Given the description of an element on the screen output the (x, y) to click on. 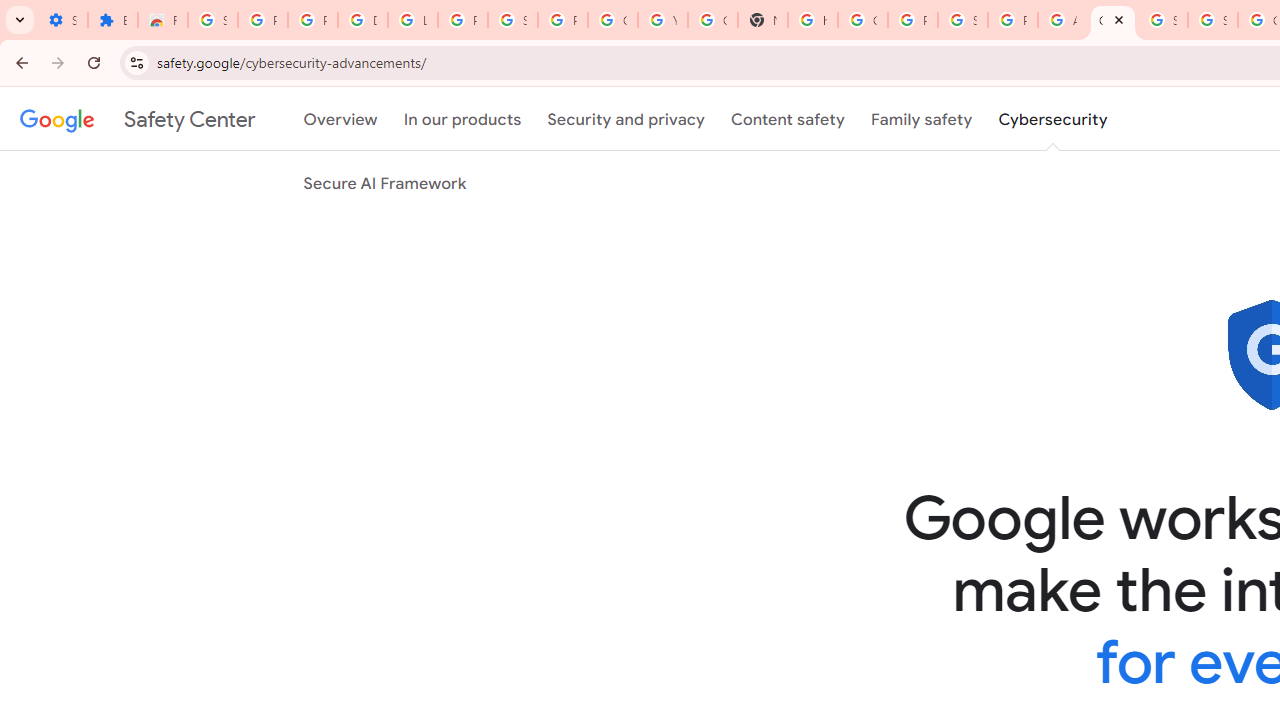
Settings - On startup (62, 20)
Google Cybersecurity Innovations - Google Safety Center (1112, 20)
Reviews: Helix Fruit Jump Arcade Game (163, 20)
